Given the description of an element on the screen output the (x, y) to click on. 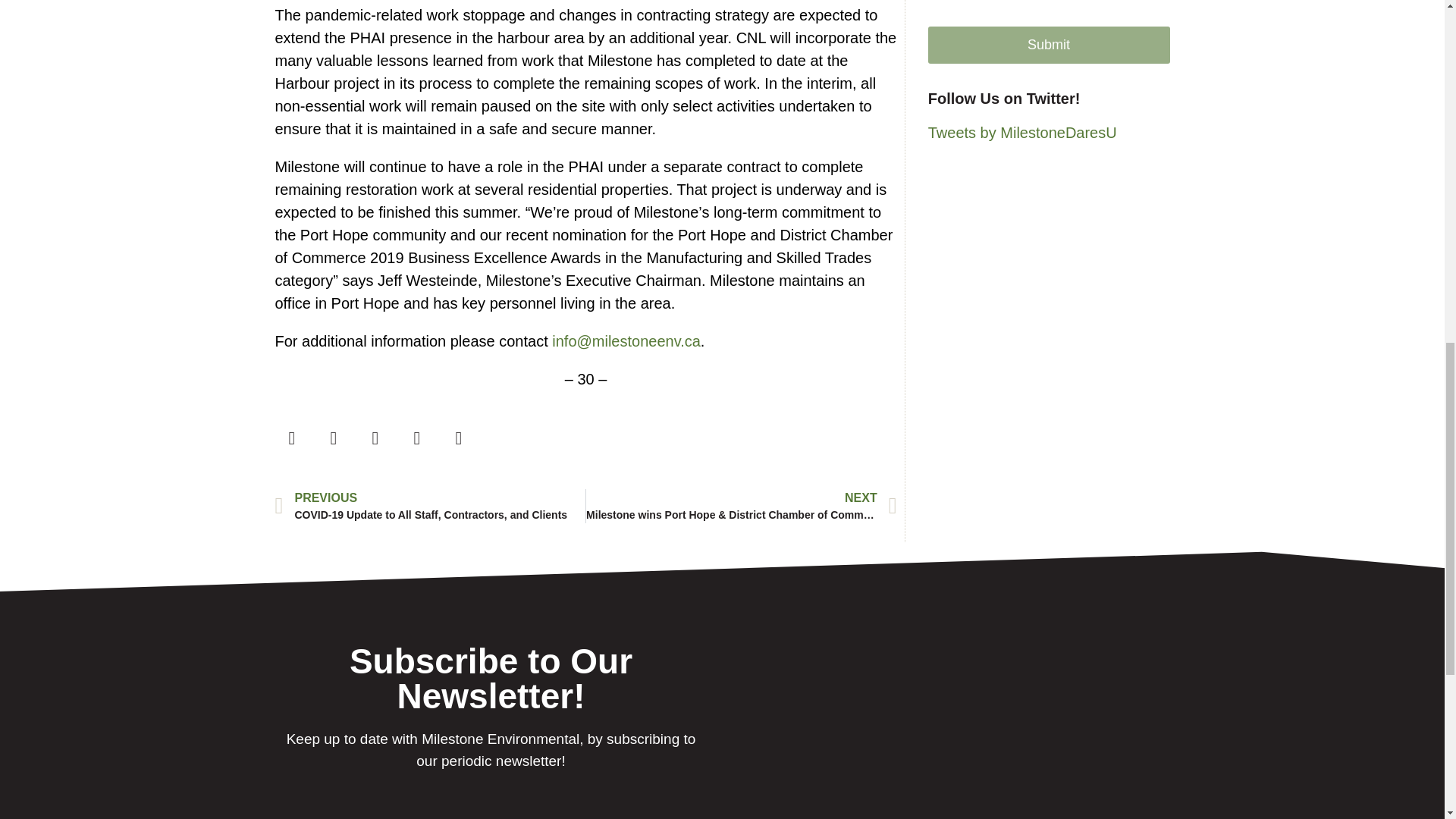
Submit (1049, 44)
Tweets by MilestoneDaresU (1022, 132)
Submit (1049, 44)
